Given the description of an element on the screen output the (x, y) to click on. 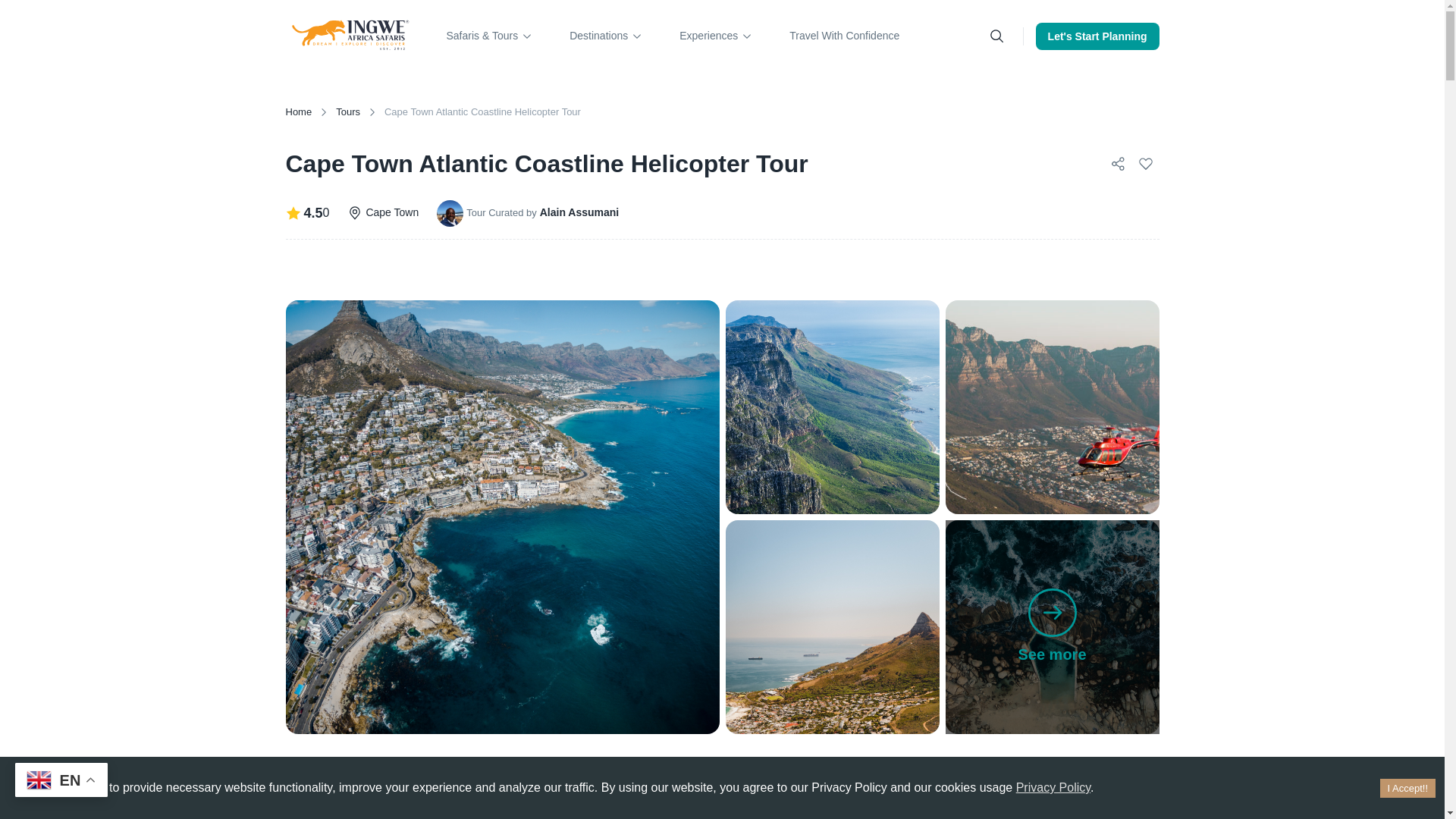
Home (298, 112)
Destinations (606, 35)
Alain Assumani (580, 212)
Tours (347, 112)
Travel With Confidence (844, 35)
Let'S Start Planning (1096, 35)
Experiences (715, 35)
